Given the description of an element on the screen output the (x, y) to click on. 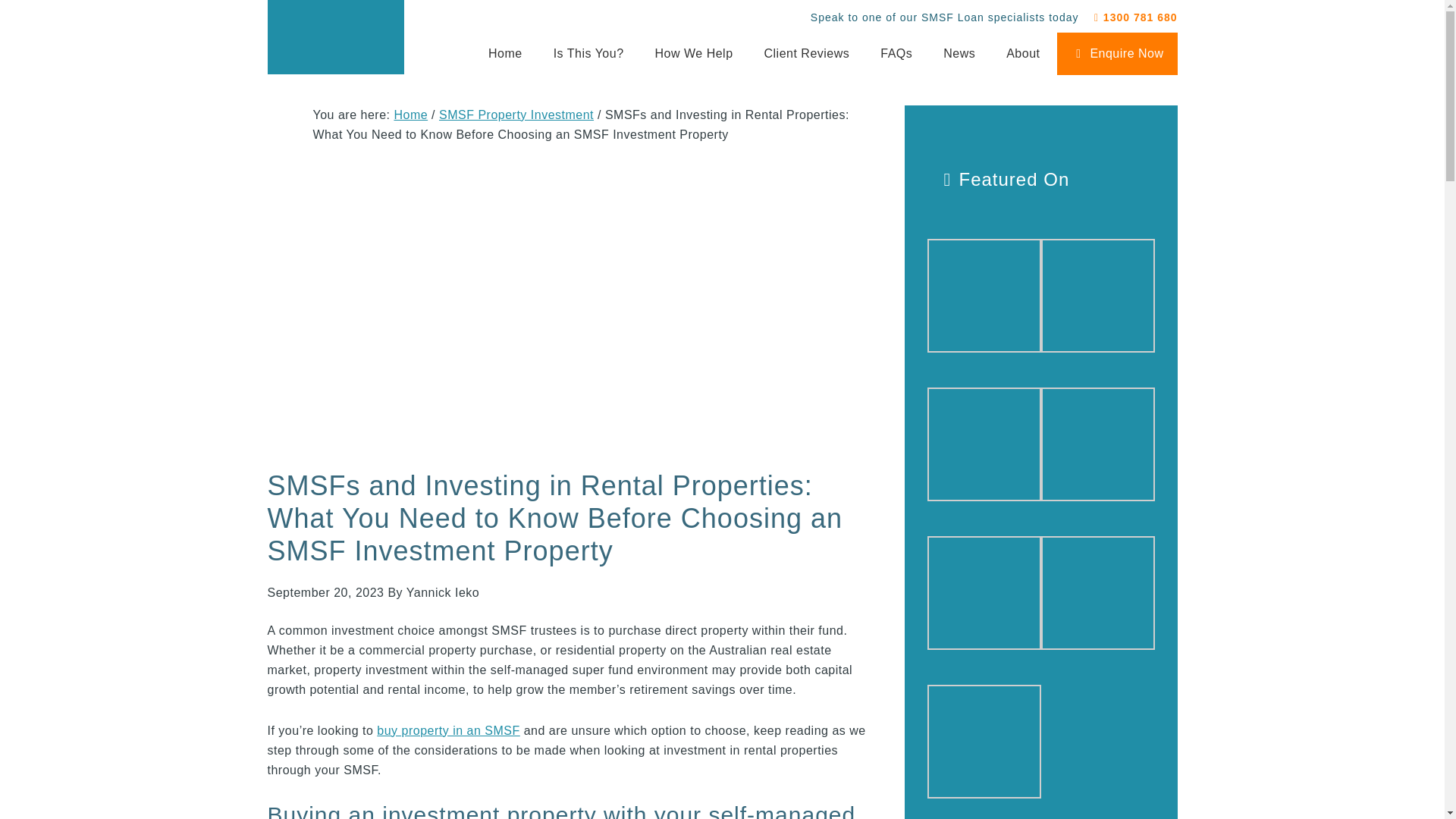
Home (410, 114)
How We Help (694, 53)
SMSF Property Investment (516, 114)
FAQs (896, 53)
Home V2 (1097, 444)
Client Reviews (806, 53)
1300 781 680 (1132, 17)
SMSF Loan Experts (335, 36)
Home (504, 53)
